Given the description of an element on the screen output the (x, y) to click on. 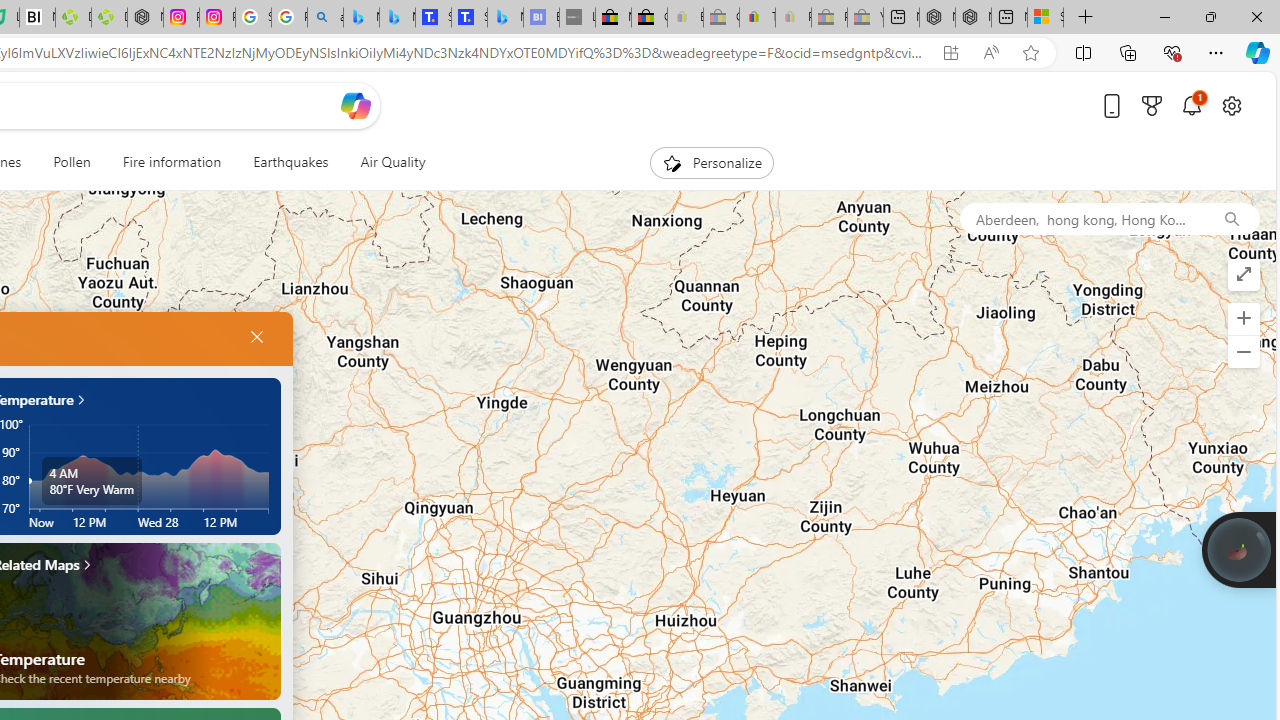
Pollen (72, 162)
Personalize (711, 162)
Nordace - Nordace Edin Collection (145, 17)
Payments Terms of Use | eBay.com - Sleeping (793, 17)
Shangri-La Bangkok, Hotel reviews and Room rates (469, 17)
Yard, Garden & Outdoor Living - Sleeping (865, 17)
Aberdeen, hong kong, Hong Kong SAR (1081, 218)
Air Quality (392, 162)
